Given the description of an element on the screen output the (x, y) to click on. 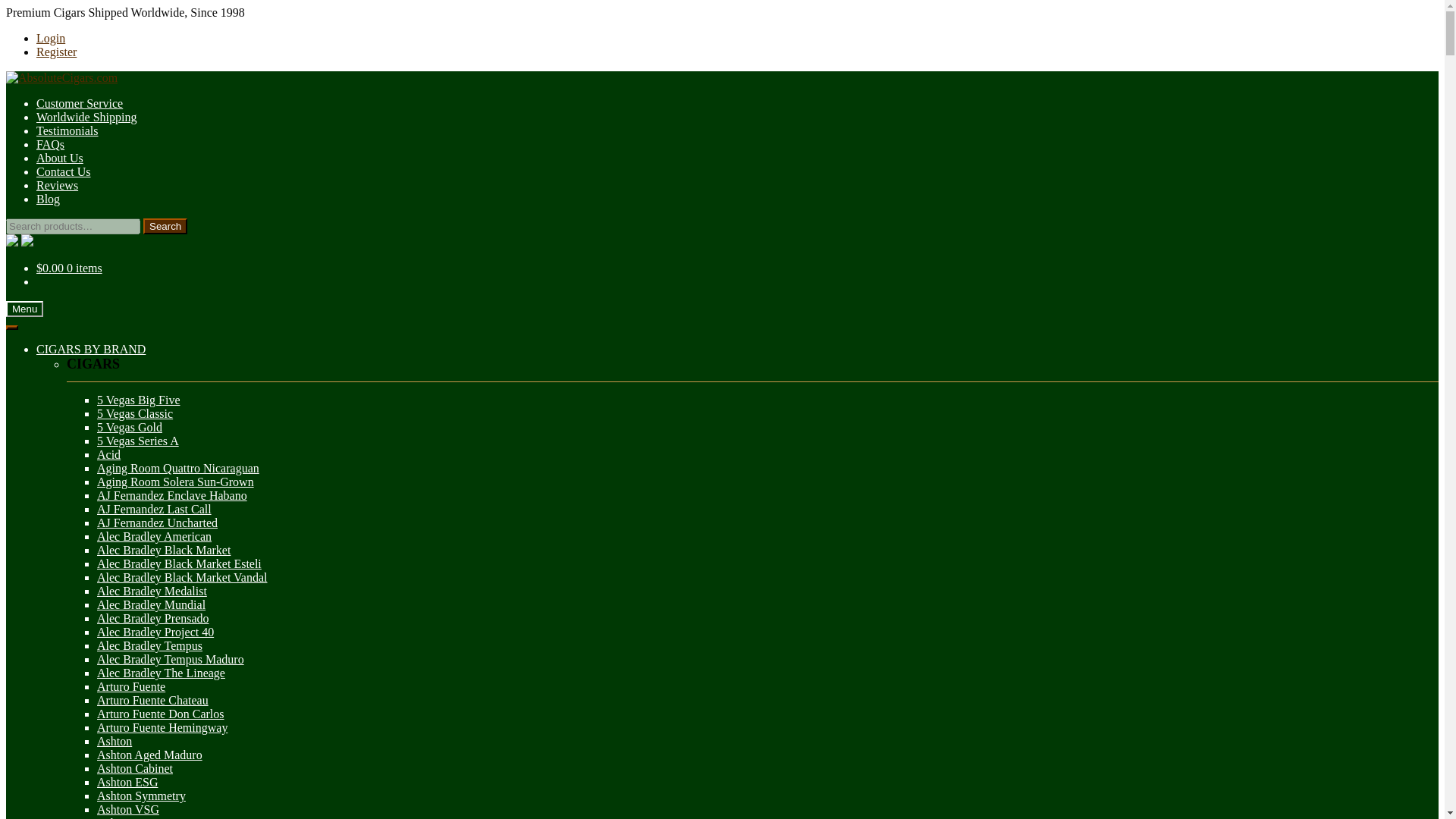
Alec Bradley Tempus (149, 645)
Customer Service (79, 103)
Alec Bradley Black Market Vandal (182, 576)
FAQs (50, 144)
Reviews (57, 185)
Login (50, 38)
Alec Bradley The Lineage (161, 672)
Blog (47, 198)
About Us (59, 157)
Alec Bradley Tempus Maduro (170, 658)
5 Vegas Classic (135, 413)
Alec Bradley Medalist (151, 590)
Alec Bradley Mundial (151, 604)
Alec Bradley Black Market Esteli (179, 563)
